Given the description of an element on the screen output the (x, y) to click on. 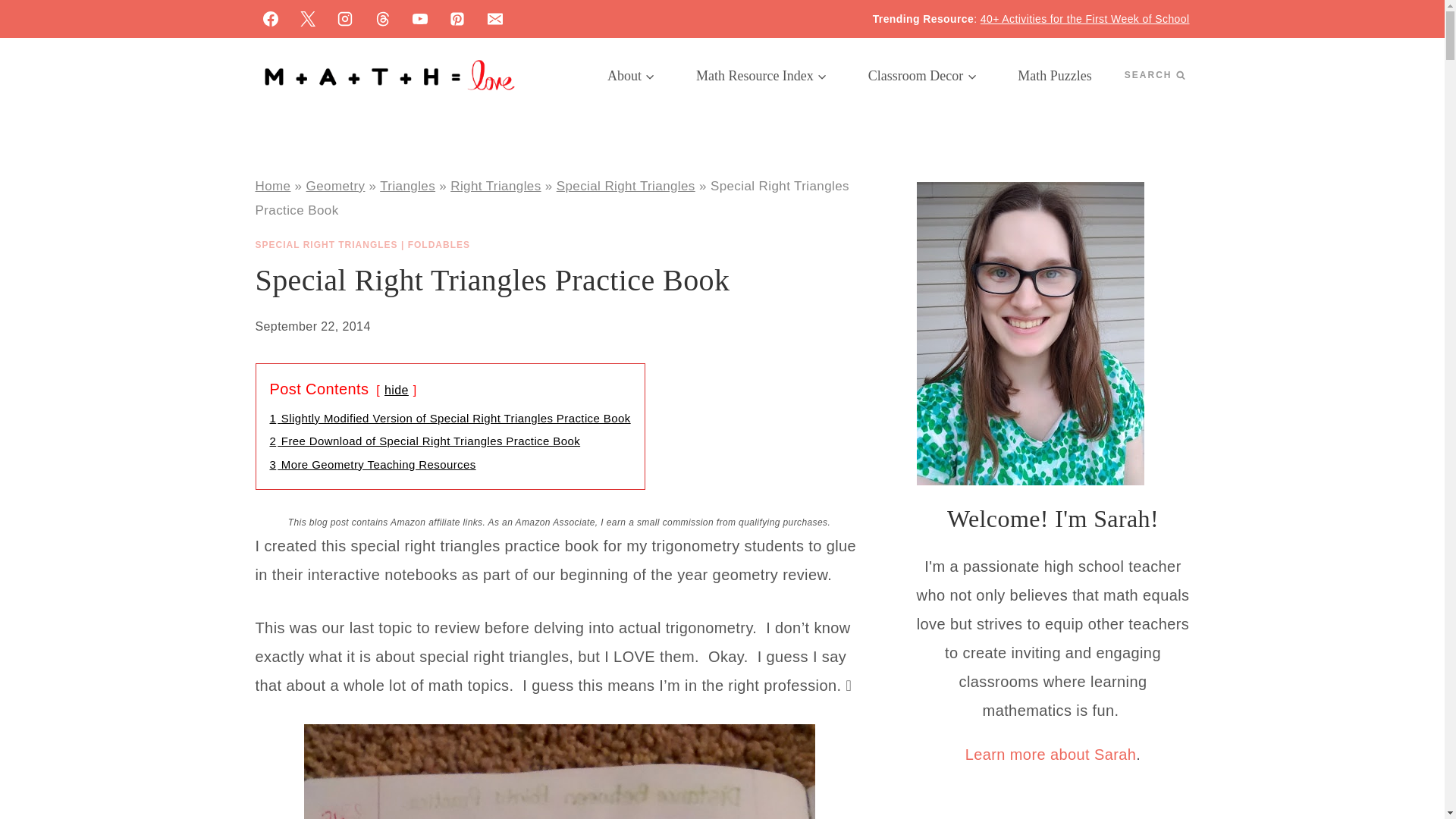
Classroom Decor (922, 75)
Home (271, 186)
Special Right Triangles (625, 186)
SPECIAL RIGHT TRIANGLES (325, 244)
SEARCH (1154, 74)
Math Puzzles (1054, 75)
Geometry (335, 186)
About (630, 75)
Right Triangles (494, 186)
Math Resource Index (761, 75)
